Given the description of an element on the screen output the (x, y) to click on. 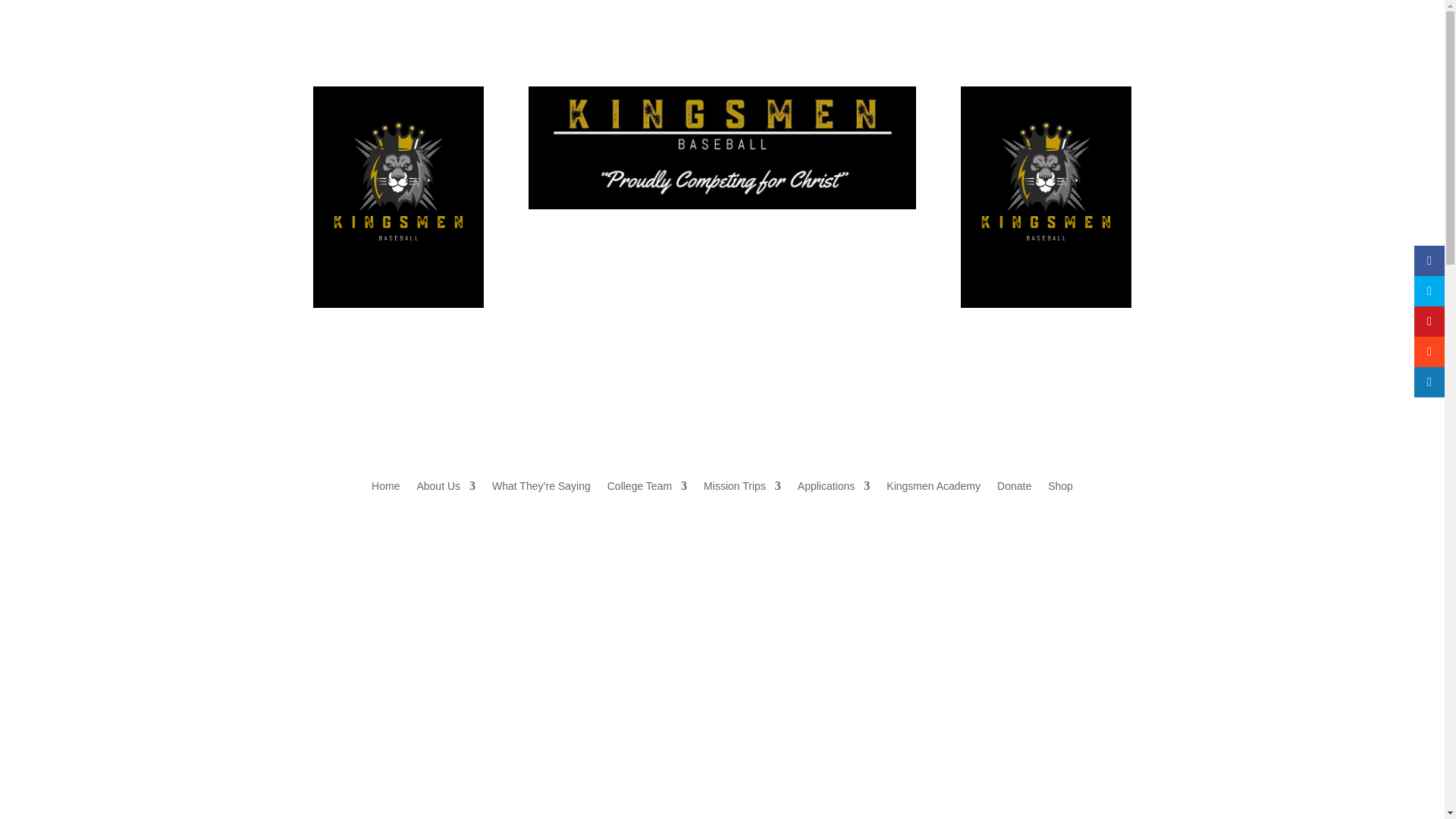
Shop (1060, 488)
Home (384, 488)
College Team (647, 488)
About Us (446, 488)
Donate (1013, 488)
Applications (833, 488)
Mission Trips (741, 488)
Capture (721, 147)
Kingsmen Academy (932, 488)
